Given the description of an element on the screen output the (x, y) to click on. 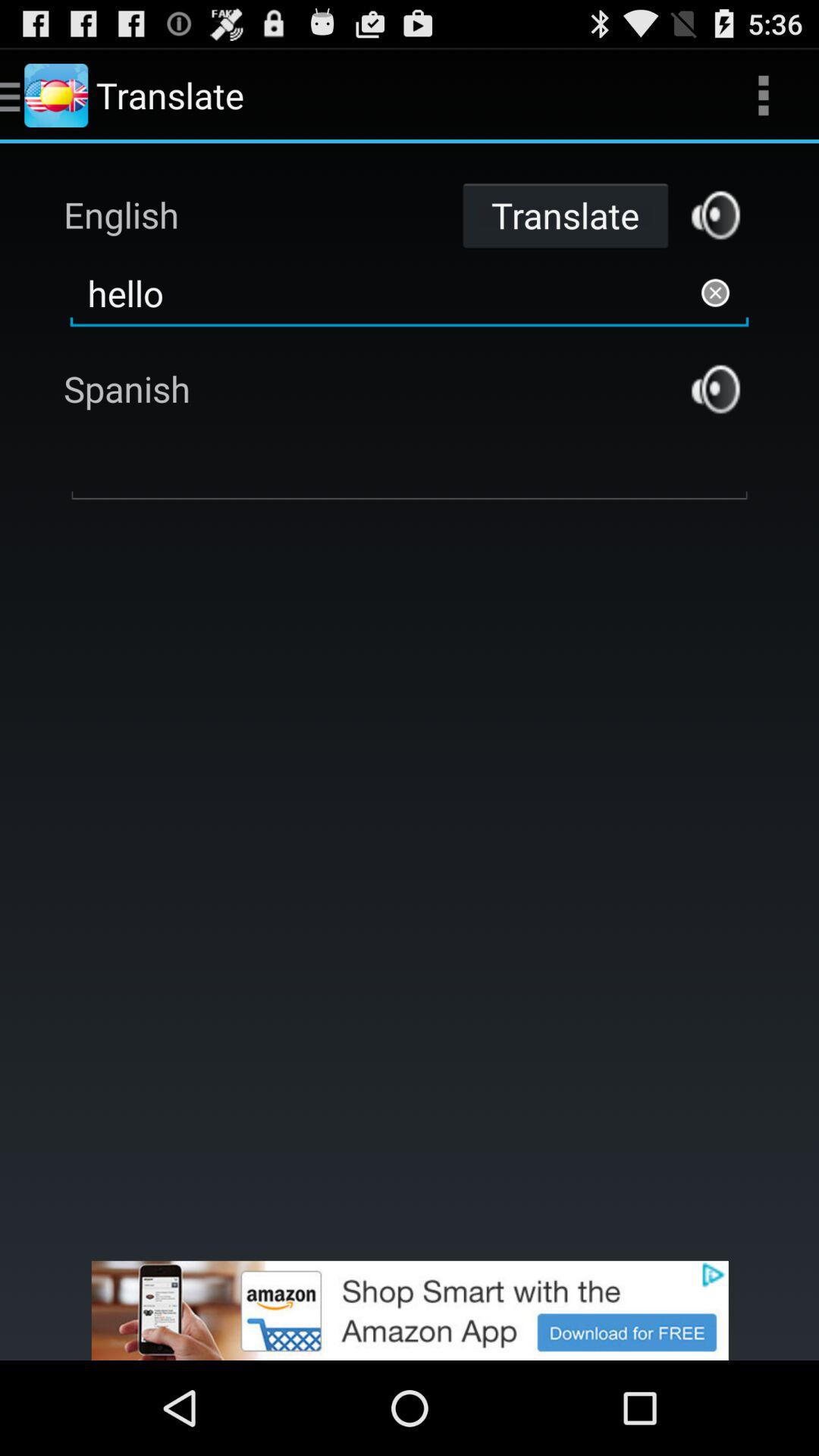
advertisement (409, 1310)
